Given the description of an element on the screen output the (x, y) to click on. 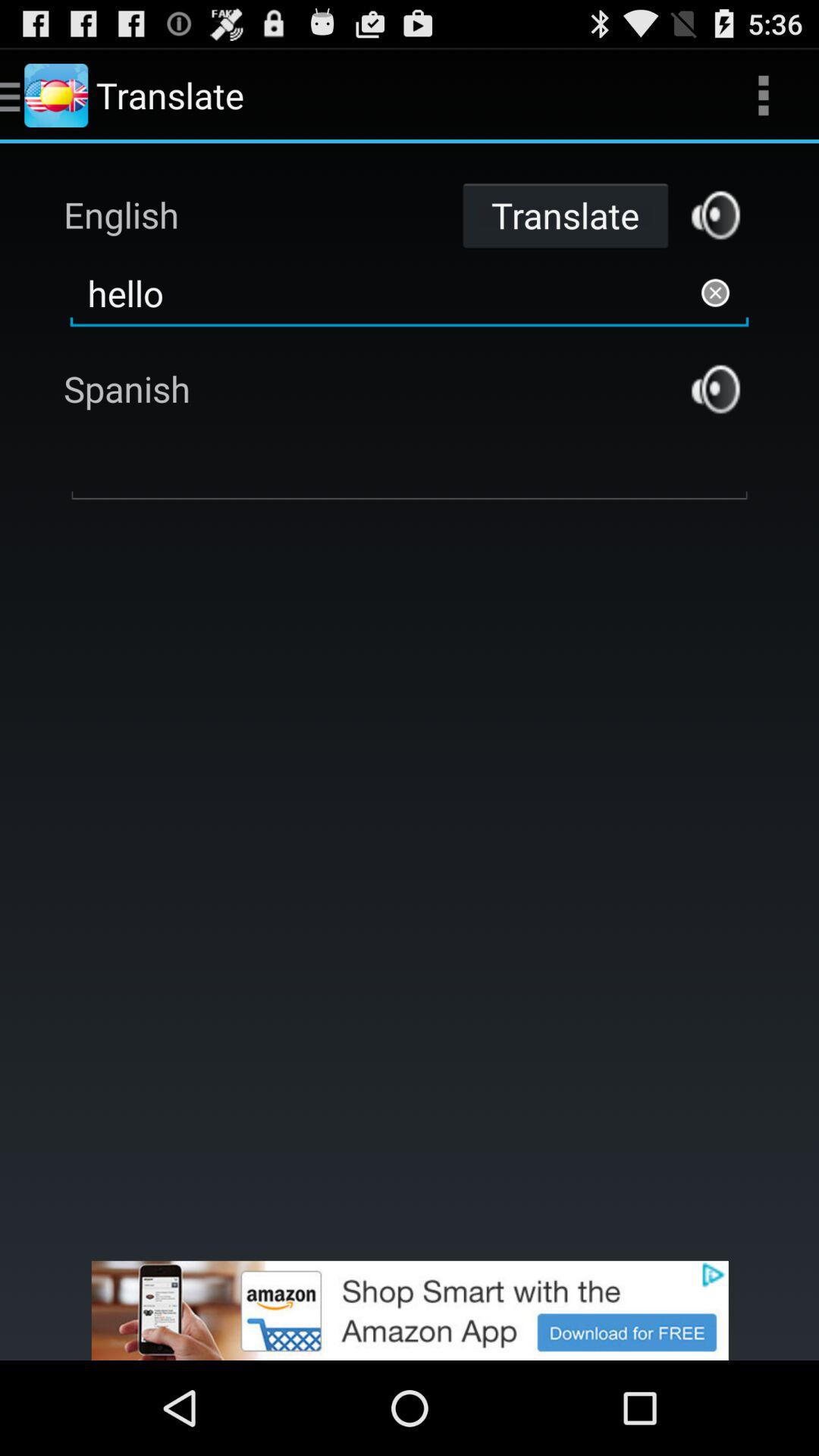
advertisement (409, 1310)
